Given the description of an element on the screen output the (x, y) to click on. 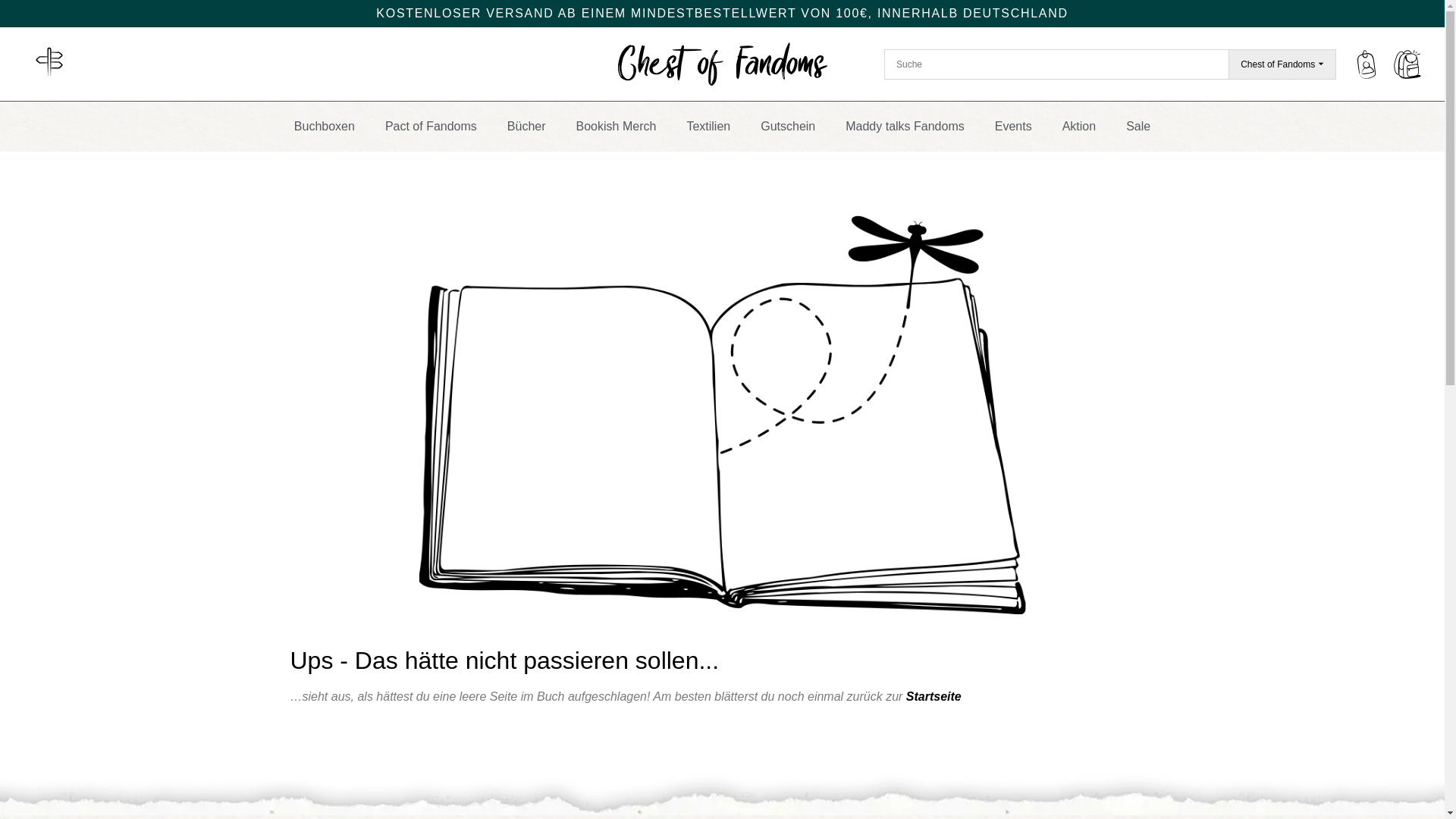
Events (1012, 126)
Aktion (1078, 126)
Gutschein (787, 126)
Maddy talks Fandoms (904, 126)
Sale (1138, 126)
Textilien (708, 126)
Pact of Fandoms (430, 126)
Buchboxen (324, 126)
Bookish Merch (615, 126)
